Given the description of an element on the screen output the (x, y) to click on. 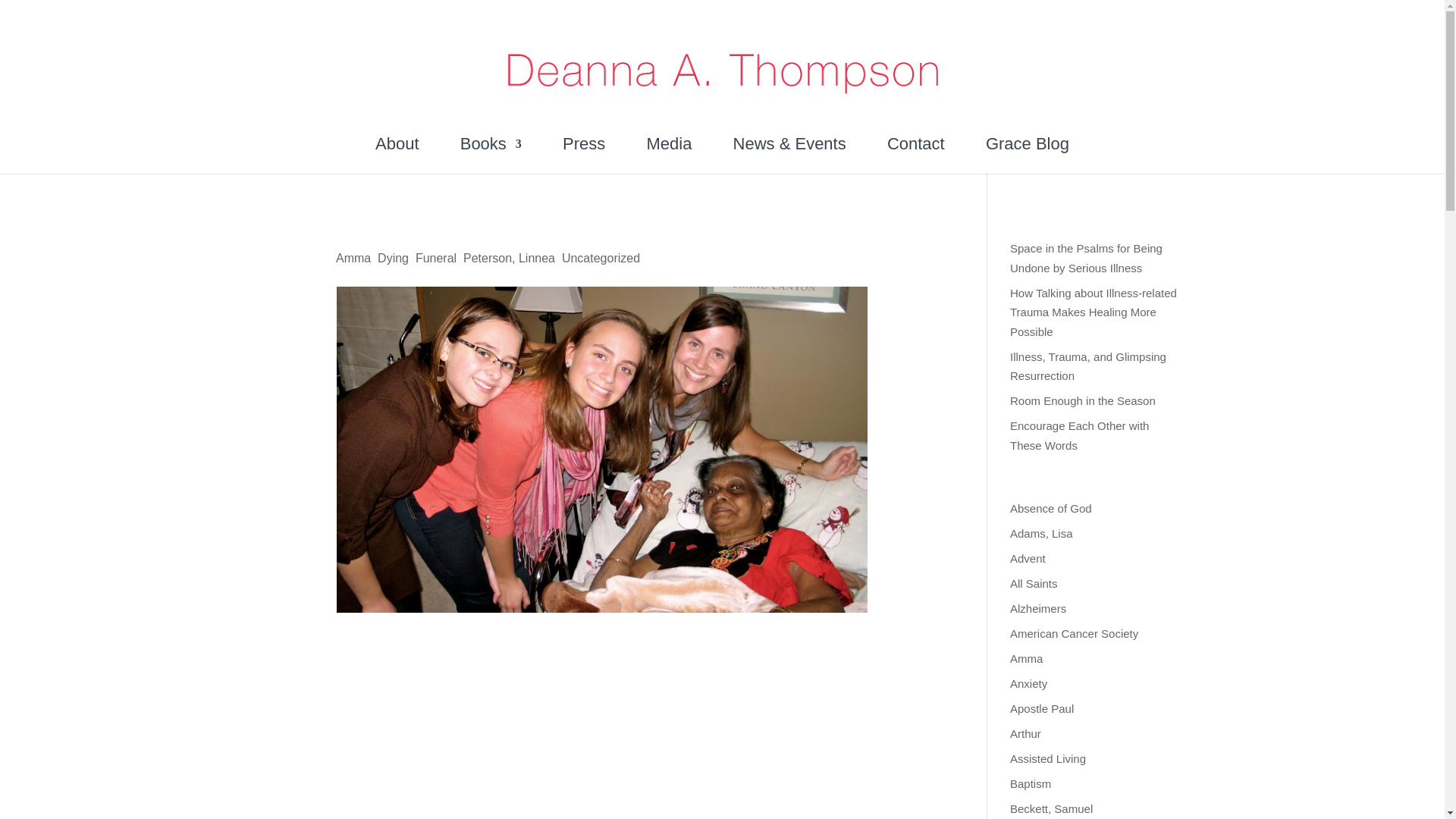
Assisted Living (1048, 758)
Room Enough in the Season (1083, 400)
Peterson, Linnea (508, 257)
Beckett, Samuel (1051, 808)
Advent (1027, 558)
Absence of God (1051, 508)
Grace Blog (1026, 155)
Funeral (435, 257)
American Cancer Society (1074, 633)
Press (583, 155)
Alzheimers (1037, 608)
All Saints (1034, 583)
Dying (393, 257)
Amma (353, 257)
Books (490, 155)
